Given the description of an element on the screen output the (x, y) to click on. 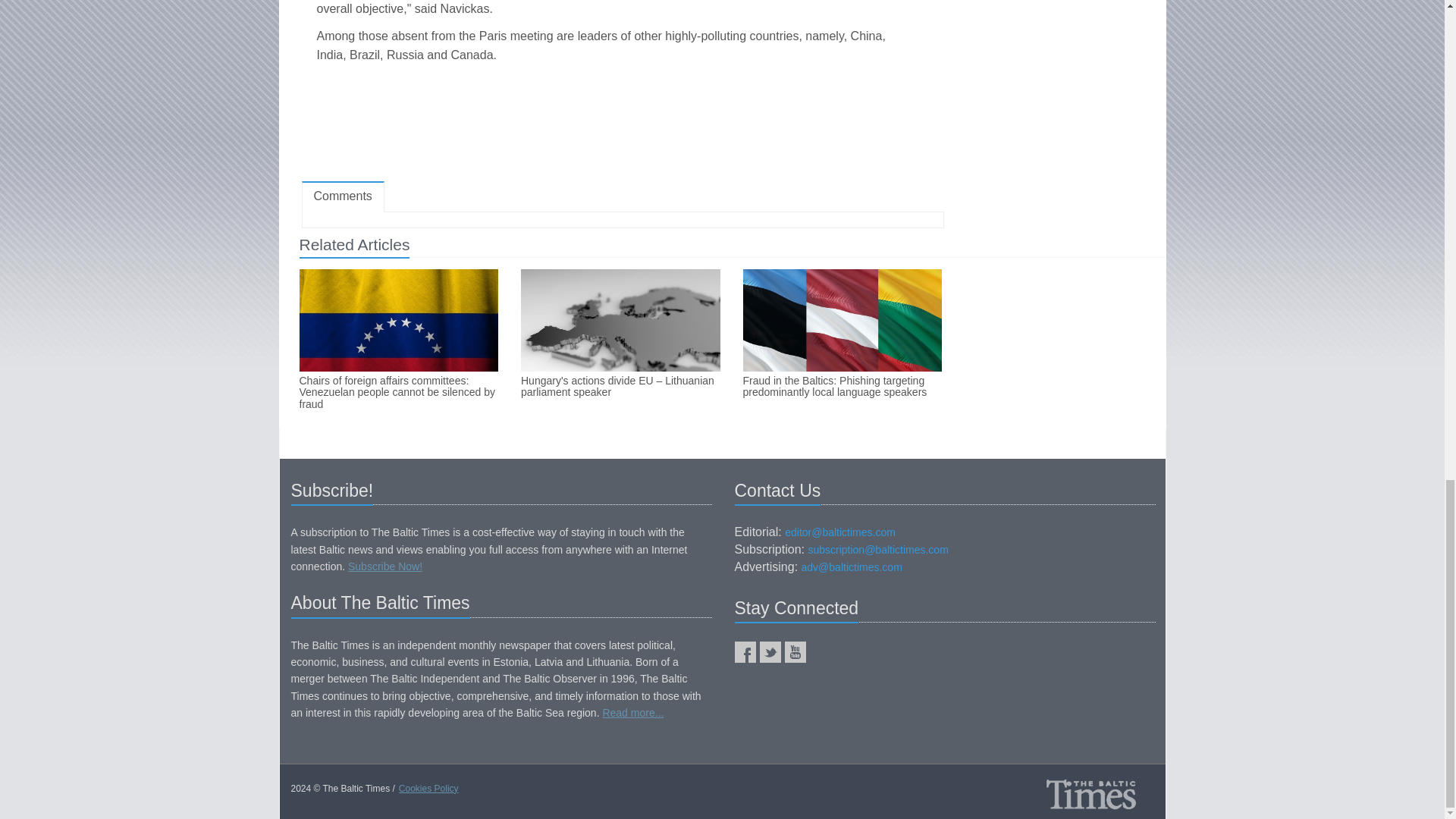
Advertisement (622, 125)
Comments (342, 196)
